Given the description of an element on the screen output the (x, y) to click on. 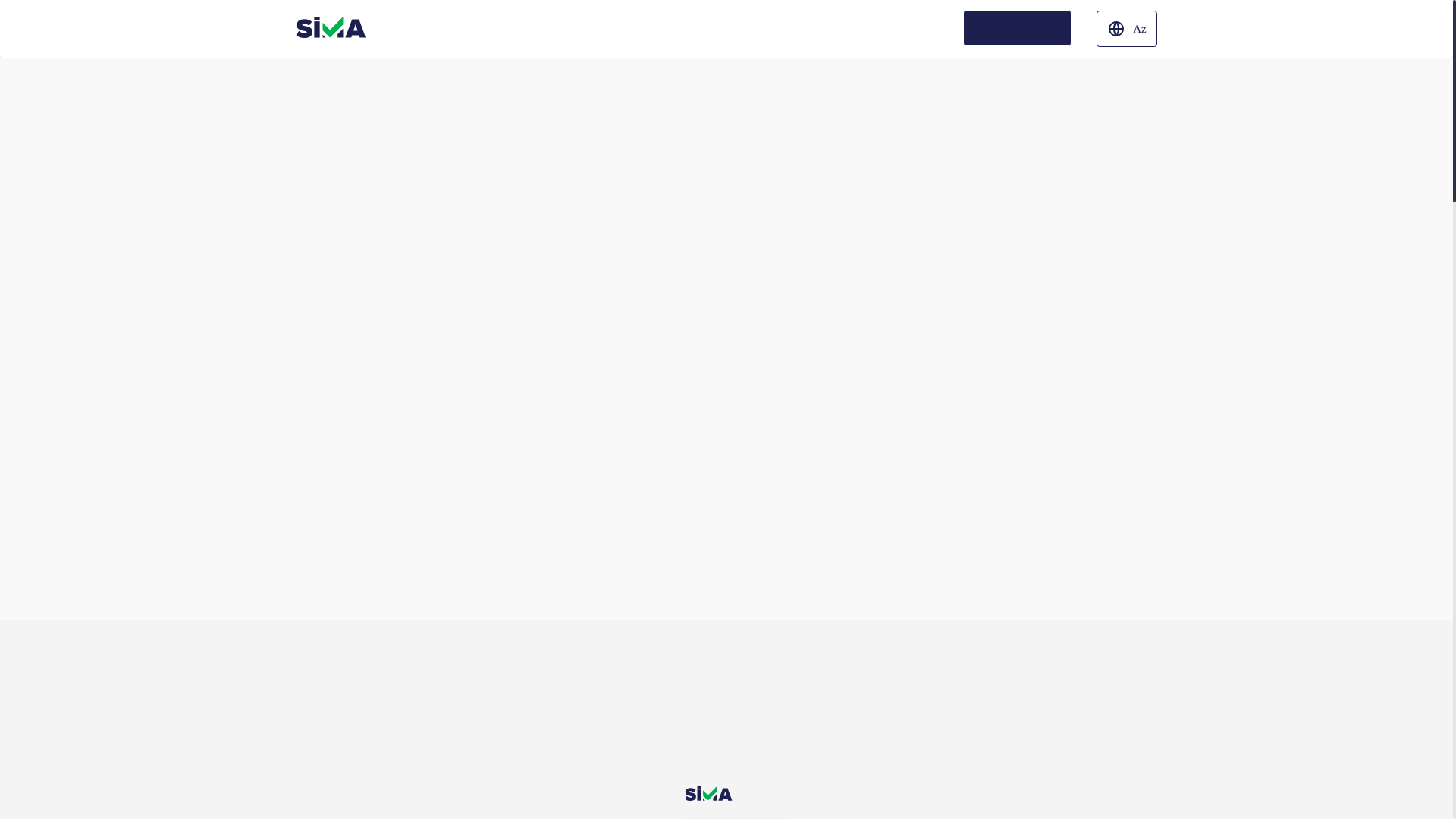
Az Element type: text (1126, 28)
